Given the description of an element on the screen output the (x, y) to click on. 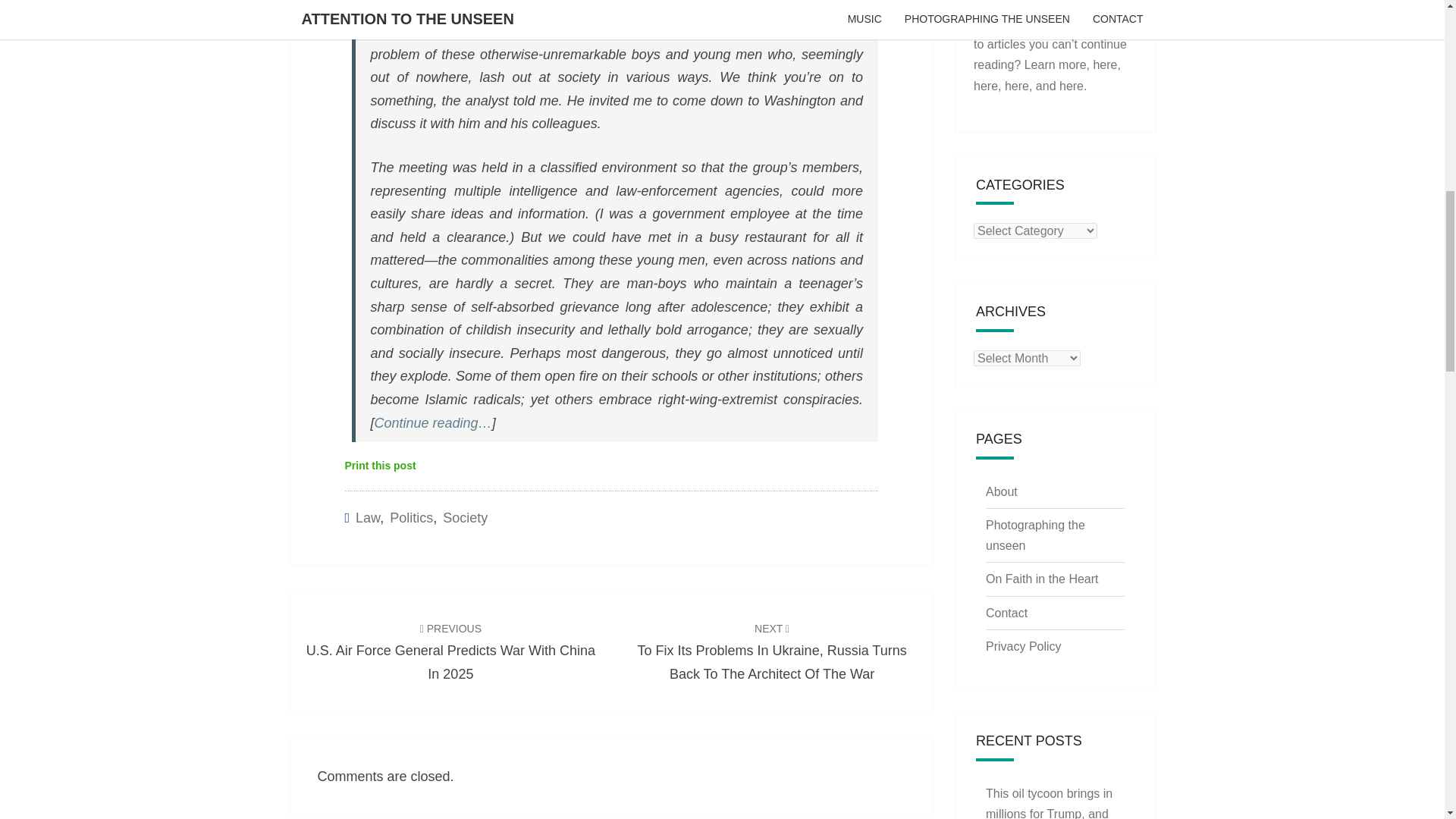
Politics (411, 517)
Law (367, 517)
Photographing the unseen (1034, 535)
here (1016, 84)
here (985, 84)
Contact (1006, 612)
here (1104, 64)
Privacy Policy (1023, 645)
